Given the description of an element on the screen output the (x, y) to click on. 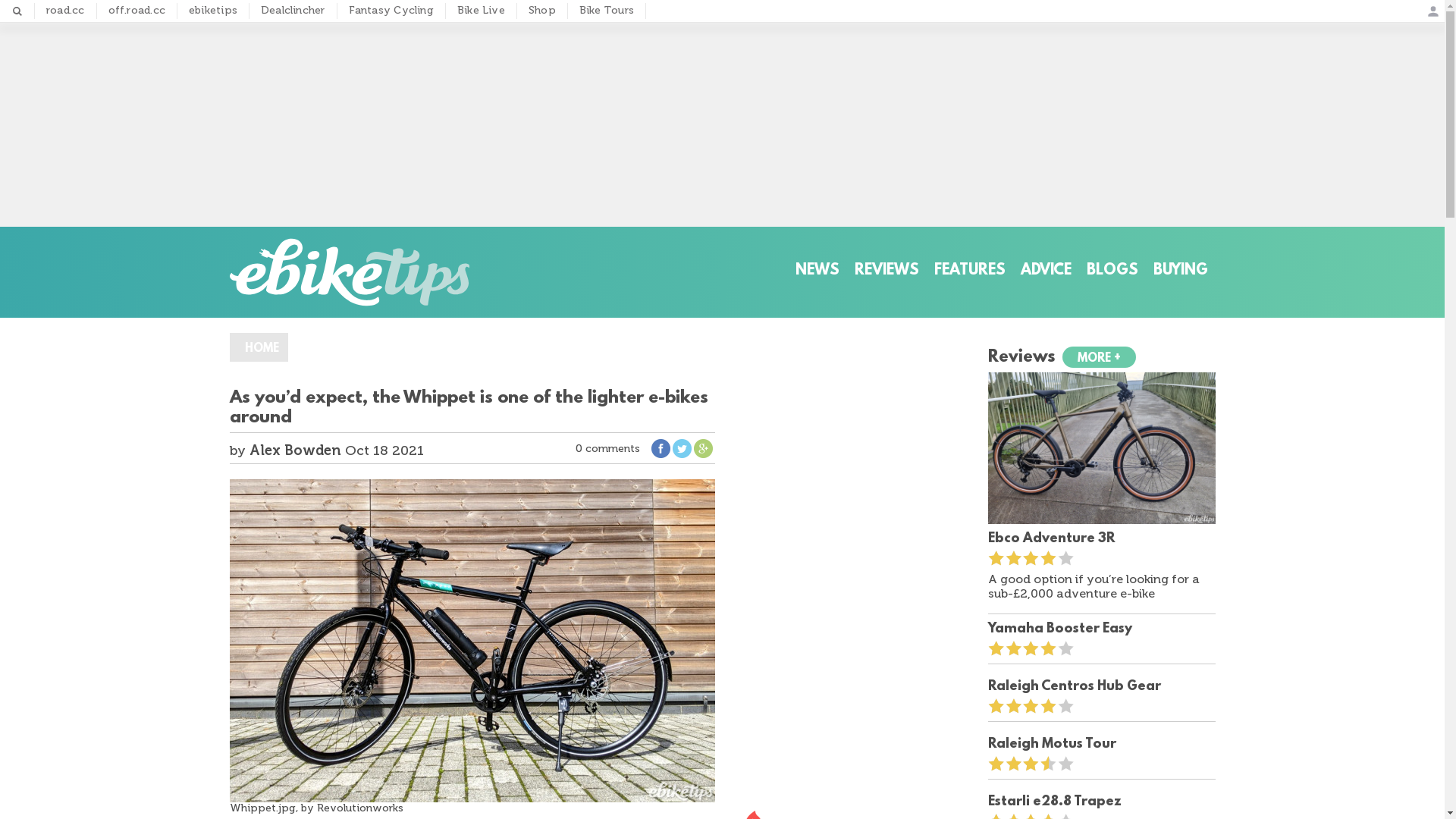
Share on Facebook Element type: hover (659, 450)
off.road.cc Element type: text (136, 10)
Ebco Adventure 3R Element type: text (1100, 537)
Raleigh Centros Hub Gear Element type: text (1100, 684)
REVIEWS Element type: text (885, 270)
Yamaha Booster Easy Element type: text (1100, 627)
Fantasy Cycling Element type: text (391, 10)
Raleigh Motus Tour Element type: text (1100, 742)
MORE + Element type: text (1098, 356)
Bike Live Element type: text (480, 10)
Estarli e28.8 Trapez Element type: text (1100, 800)
ebiketips Element type: text (212, 10)
FEATURES Element type: text (969, 270)
Dealclincher Element type: text (292, 10)
Skip to main content Element type: text (658, 0)
Shop Element type: text (542, 10)
NEWS Element type: text (816, 270)
Share this on Google+ Element type: hover (702, 450)
HOME Element type: text (258, 346)
road.cc Element type: text (65, 10)
ADVICE Element type: text (1046, 270)
BLOGS Element type: text (1111, 270)
Bike Tours Element type: text (606, 10)
Share this on Twitter Element type: hover (680, 450)
BUYING Element type: text (1179, 270)
Whippet.jpg Element type: hover (471, 640)
